Given the description of an element on the screen output the (x, y) to click on. 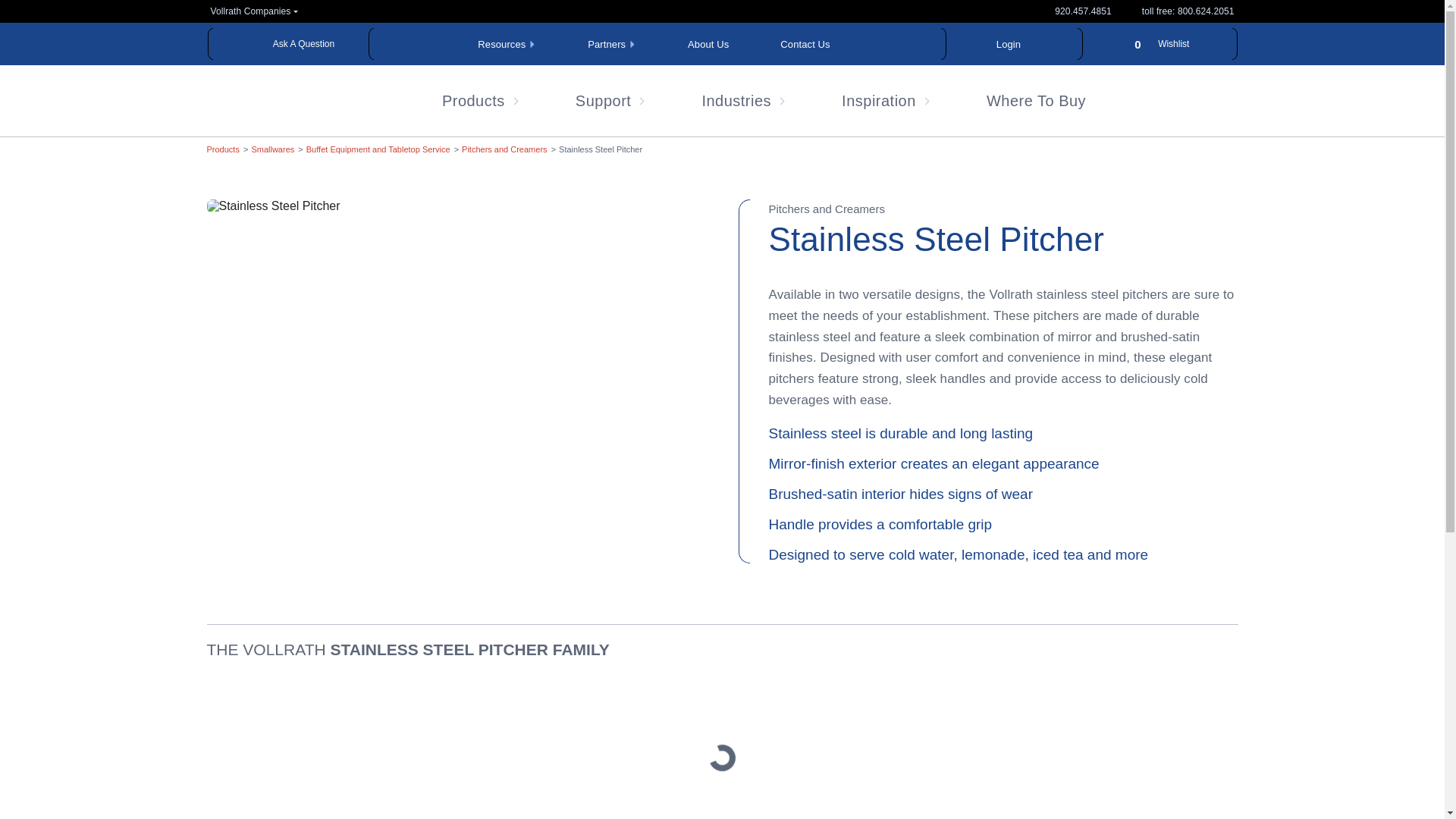
The Vollrath Company, LLC (301, 128)
920.457.4851 (1083, 11)
About Us (708, 43)
Contact Us (804, 43)
Products (222, 148)
Stainless Steel Pitcher (600, 148)
Buffet Equipment and Tabletop Service (377, 148)
Ask A Question (1157, 44)
Pitchers and Creamers (287, 43)
Partners (504, 148)
Login (611, 43)
toll free: 800.624.2051 (1008, 43)
Resources (1188, 11)
Smallwares (507, 43)
